Given the description of an element on the screen output the (x, y) to click on. 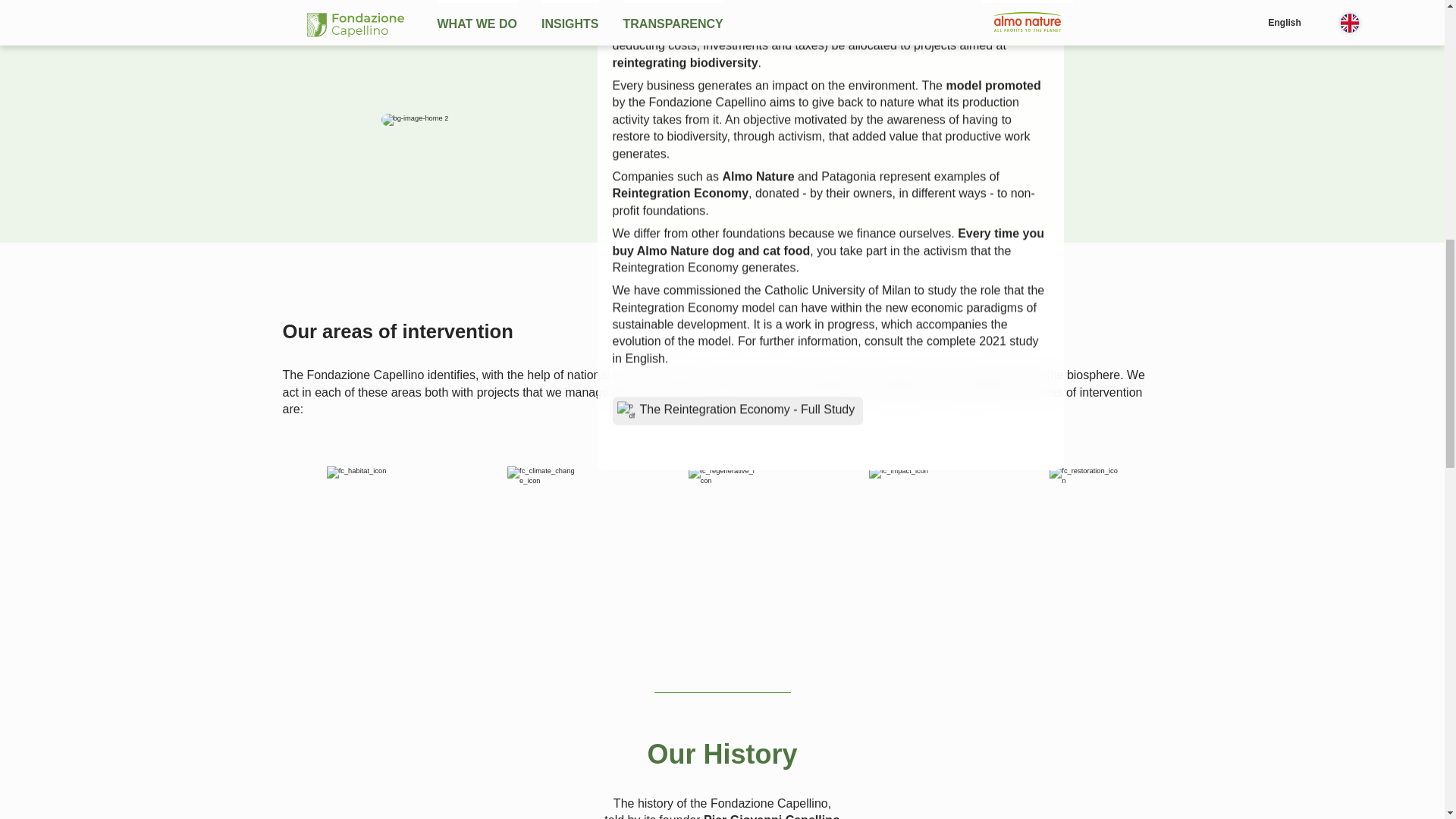
The Reintegration Economy - Full Study  (737, 410)
